Given the description of an element on the screen output the (x, y) to click on. 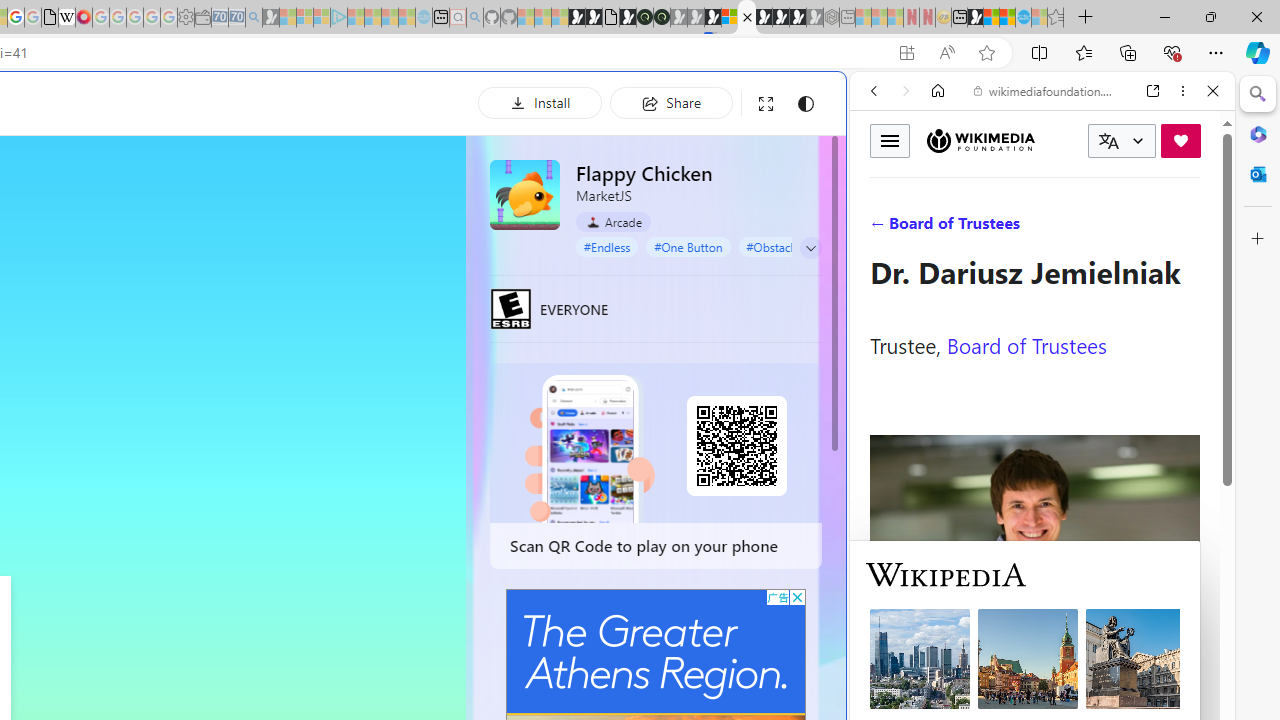
Donate now (1180, 140)
Favorites - Sleeping (1055, 17)
Wiktionary (1034, 669)
App available. Install Flappy Chicken (906, 53)
Microsoft Start Gaming - Sleeping (270, 17)
Arcade (613, 221)
google_privacy_policy_zh-CN.pdf (49, 17)
Search or enter web address (343, 191)
